Given the description of an element on the screen output the (x, y) to click on. 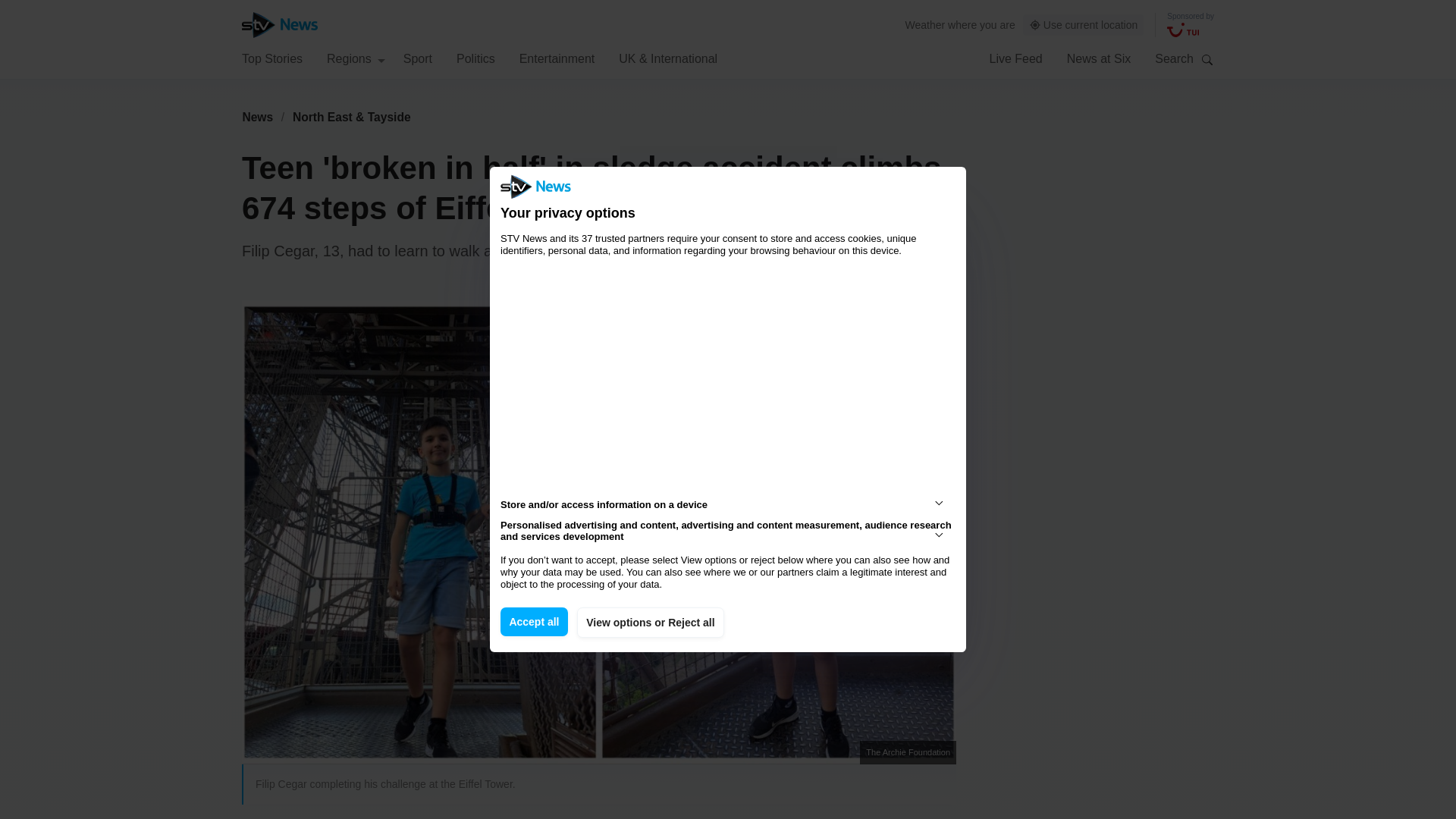
Live Feed (1015, 57)
Search (1206, 59)
Weather (924, 24)
Entertainment (557, 57)
Regions (355, 57)
Use current location (1083, 25)
Top Stories (271, 57)
Politics (476, 57)
News at Six (1099, 57)
